Given the description of an element on the screen output the (x, y) to click on. 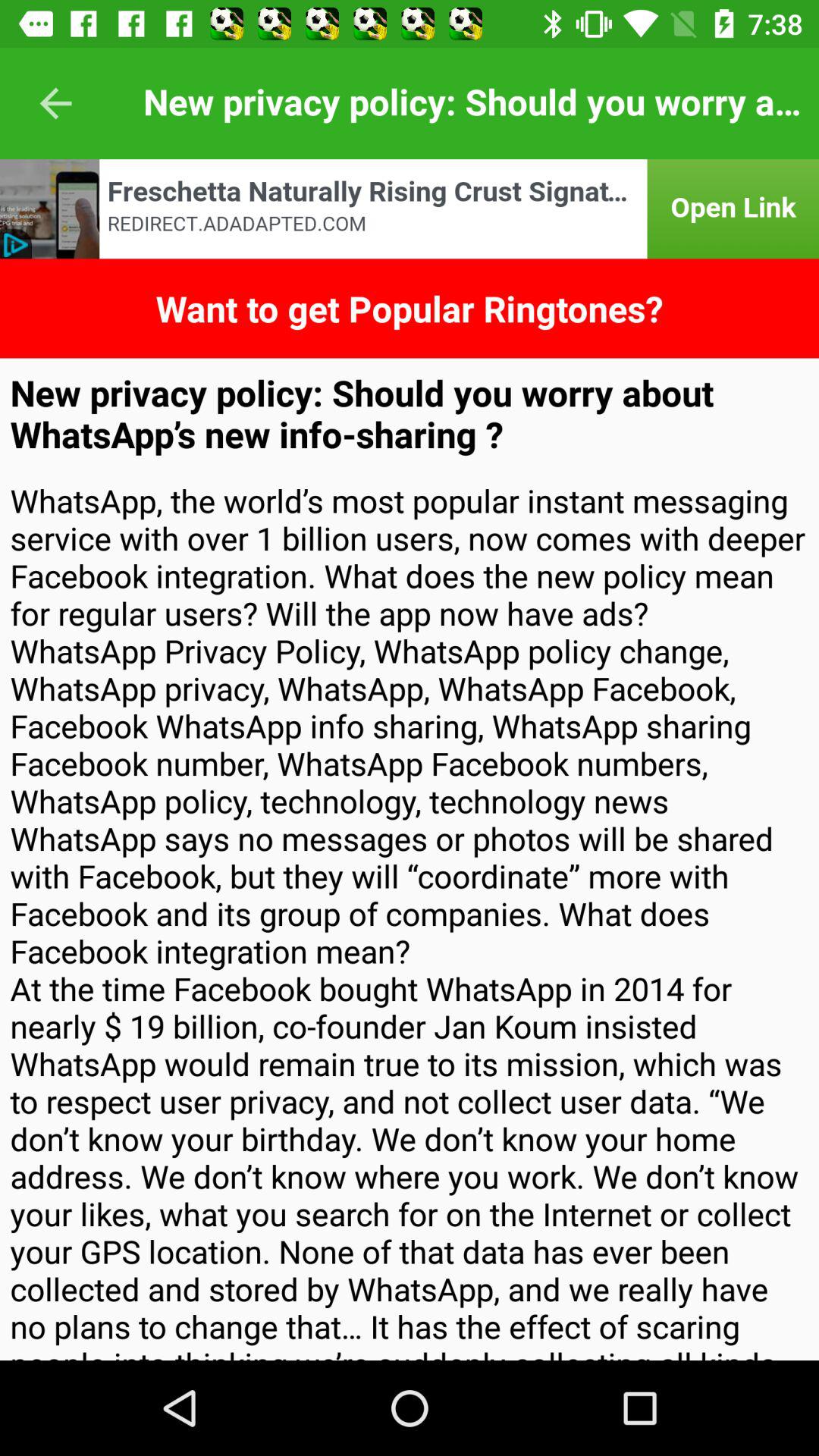
jump until want to get icon (409, 308)
